Given the description of an element on the screen output the (x, y) to click on. 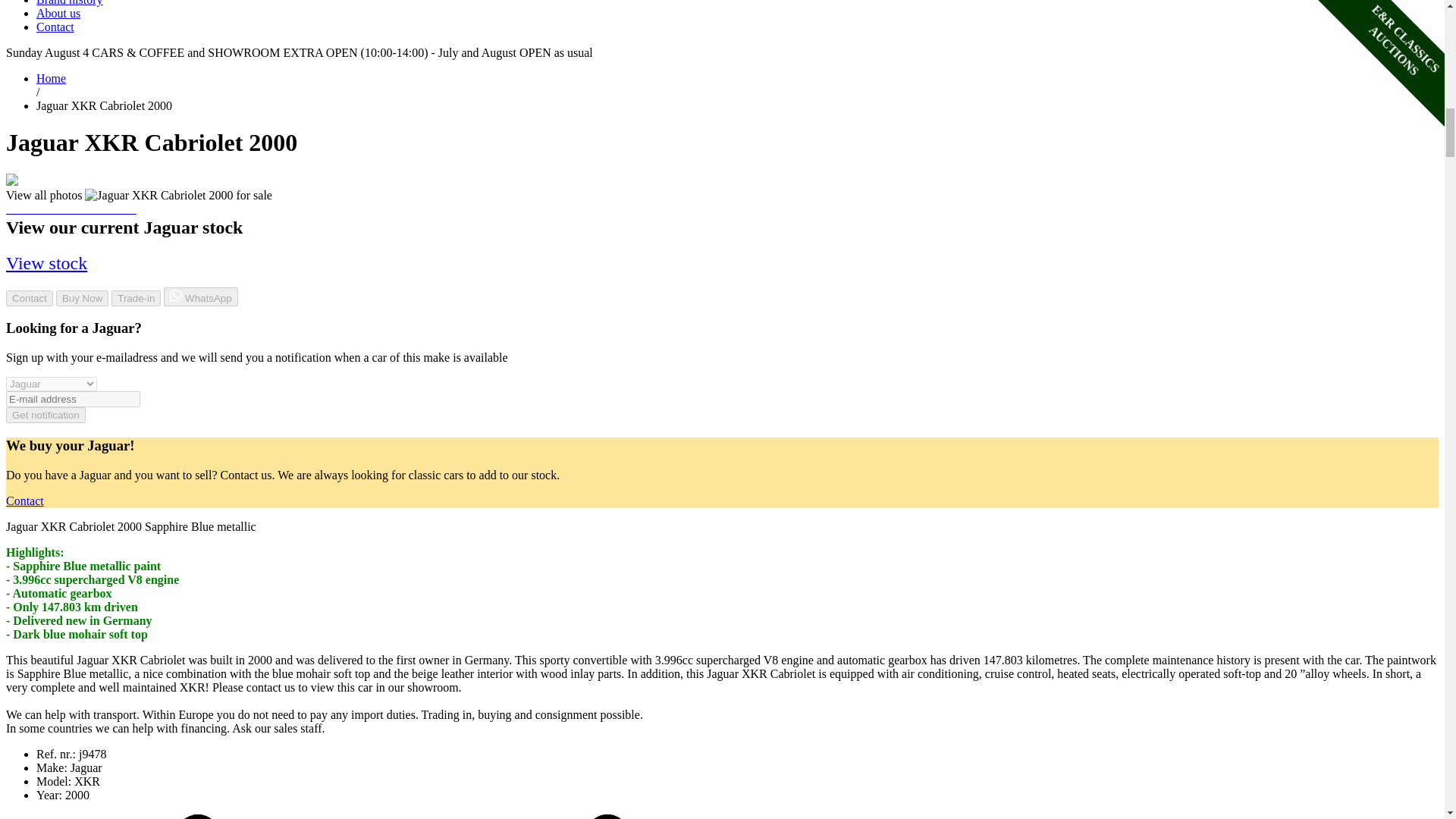
Go to Home Page (50, 78)
Home (50, 78)
Jaguar XKR Cabriolet 2000 (178, 195)
About us (58, 12)
Contact (55, 26)
Brand history (69, 2)
